Given the description of an element on the screen output the (x, y) to click on. 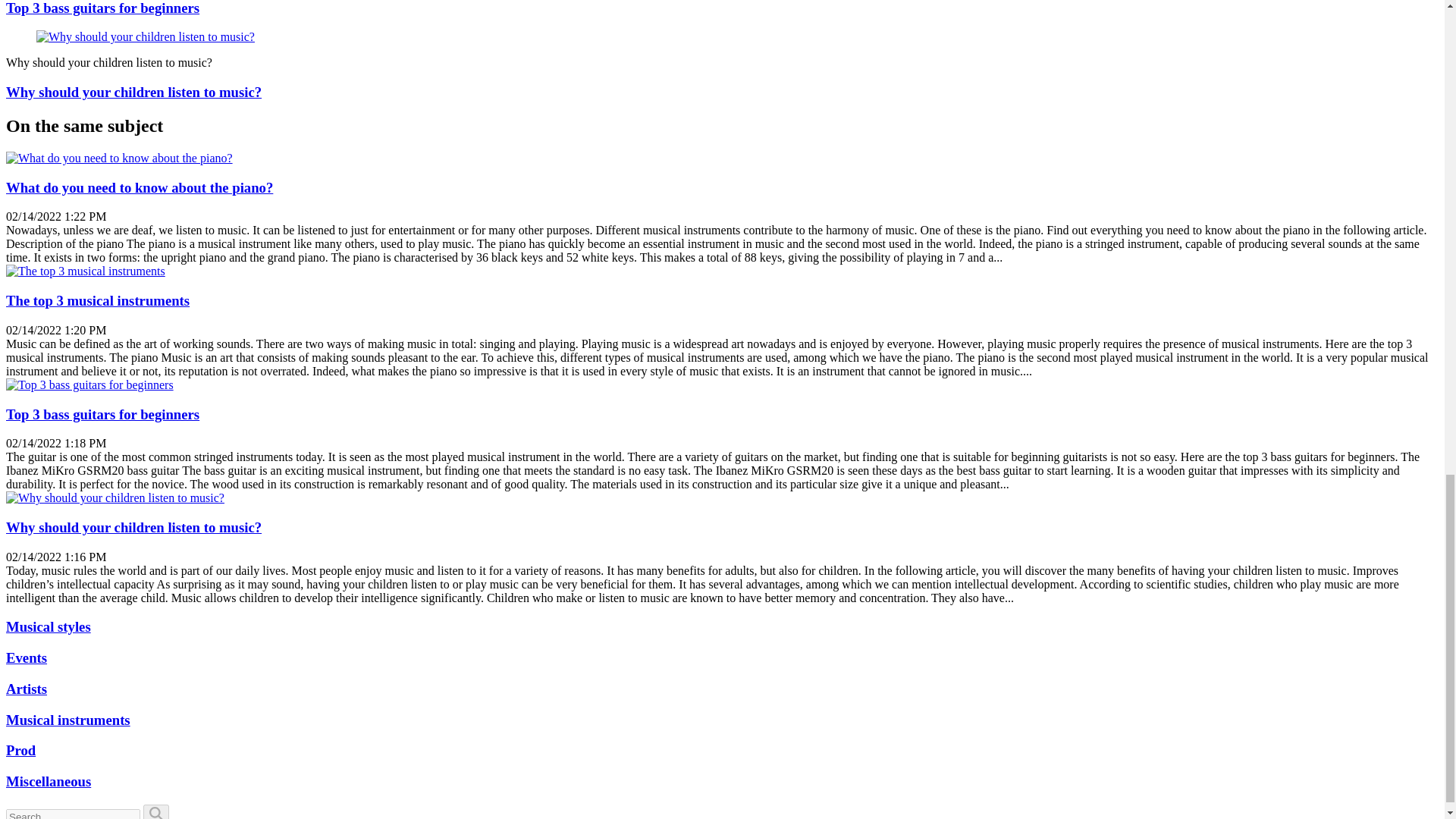
Events (25, 657)
The top 3 musical instruments (97, 300)
Top 3 bass guitars for beginners (102, 414)
Musical styles (47, 626)
What do you need to know about the piano? (139, 187)
What do you need to know about the piano? (118, 157)
Artists (25, 688)
Top 3 bass guitars for beginners (102, 7)
The top 3 musical instruments (85, 270)
Why should your children listen to music? (133, 91)
